Given the description of an element on the screen output the (x, y) to click on. 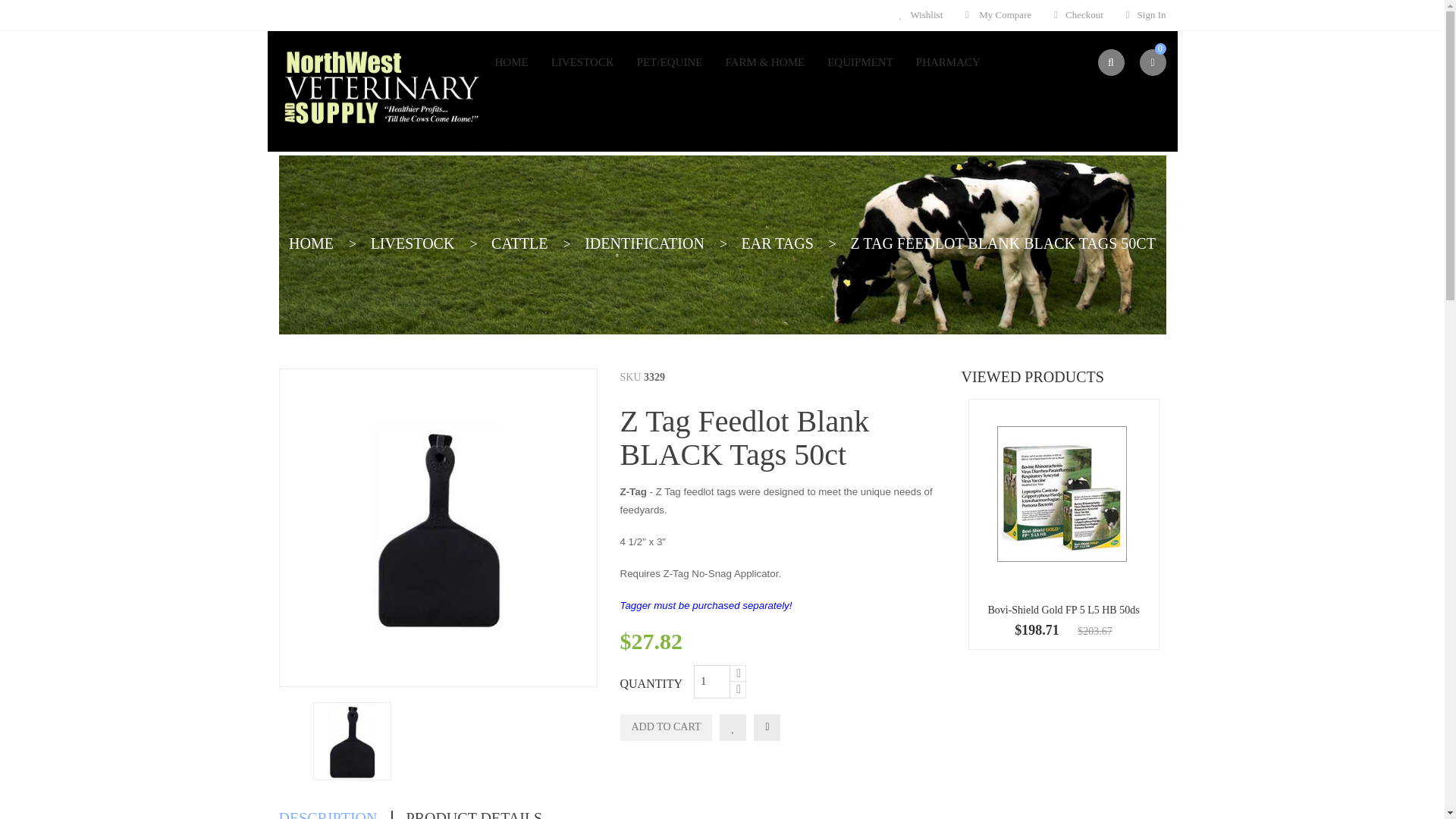
viewed products (1031, 376)
Add to Compare (767, 727)
Log in to your customer account (1145, 15)
1 (712, 681)
SWINE (309, 99)
HOME (516, 62)
Checkout (1078, 15)
POULTRY (405, 99)
Z Tag Feedlot Blank 50ct BLACK each (437, 527)
LIVESTOCK (583, 62)
Z Tag Feedlot Blank 50ct BLACK each (351, 740)
Checkout (1078, 15)
My Compare (997, 15)
CATTLE (487, 99)
Wishlist (920, 15)
